Given the description of an element on the screen output the (x, y) to click on. 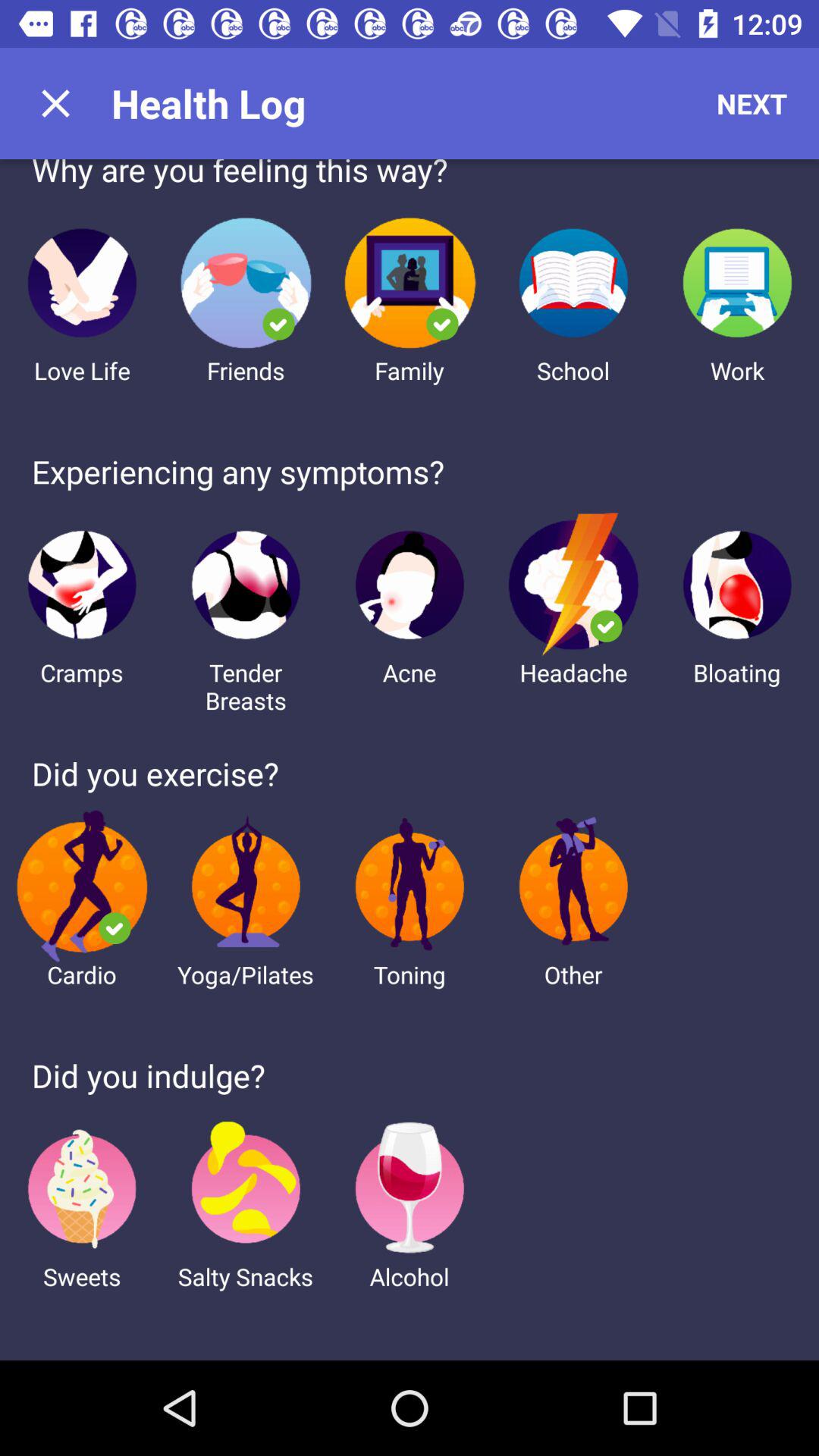
go above headache (573, 584)
